Given the description of an element on the screen output the (x, y) to click on. 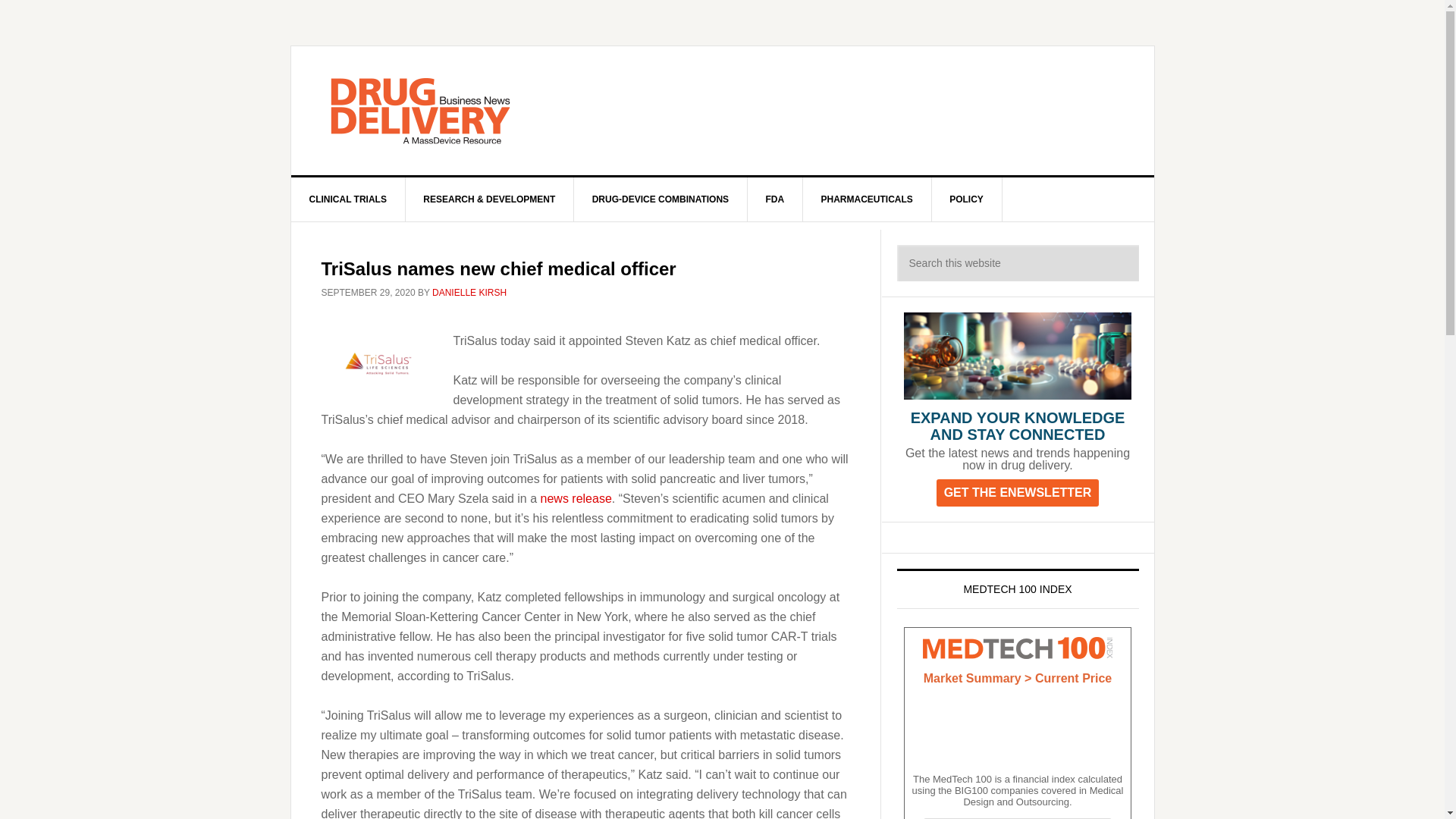
DANIELLE KIRSH (469, 292)
POLICY (967, 199)
DRUG-DEVICE COMBINATIONS (660, 199)
CLINICAL TRIALS (348, 199)
GET THE ENEWSLETTER (1017, 492)
PHARMACEUTICALS (866, 199)
DRUG DELIVERY BUSINESS (419, 110)
GET THE ENEWSLETTER (1017, 492)
